Given the description of an element on the screen output the (x, y) to click on. 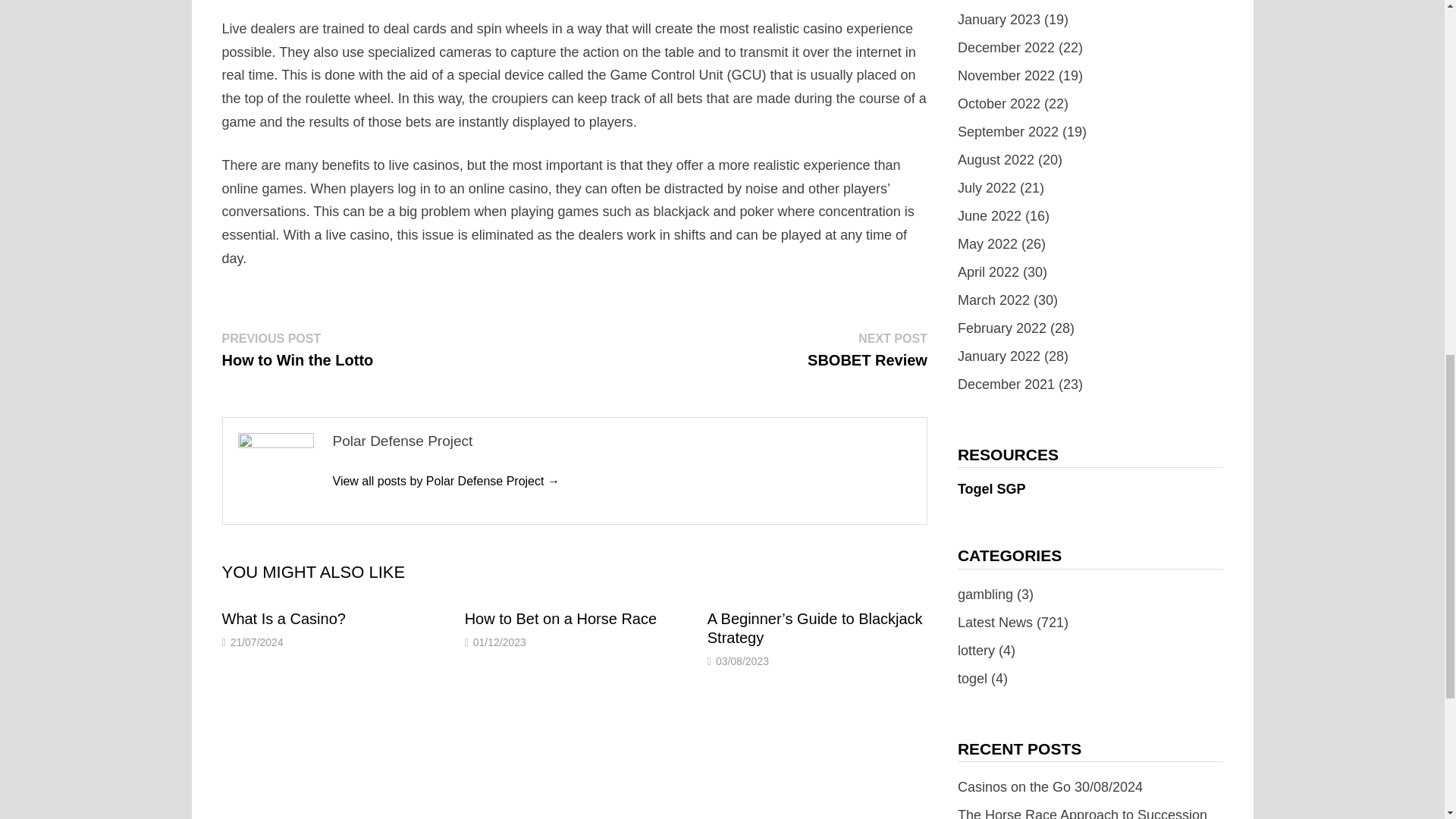
How to Bet on a Horse Race (867, 349)
How to Bet on a Horse Race (296, 349)
What Is a Casino? (560, 618)
Polar Defense Project (560, 618)
What Is a Casino? (283, 618)
